Given the description of an element on the screen output the (x, y) to click on. 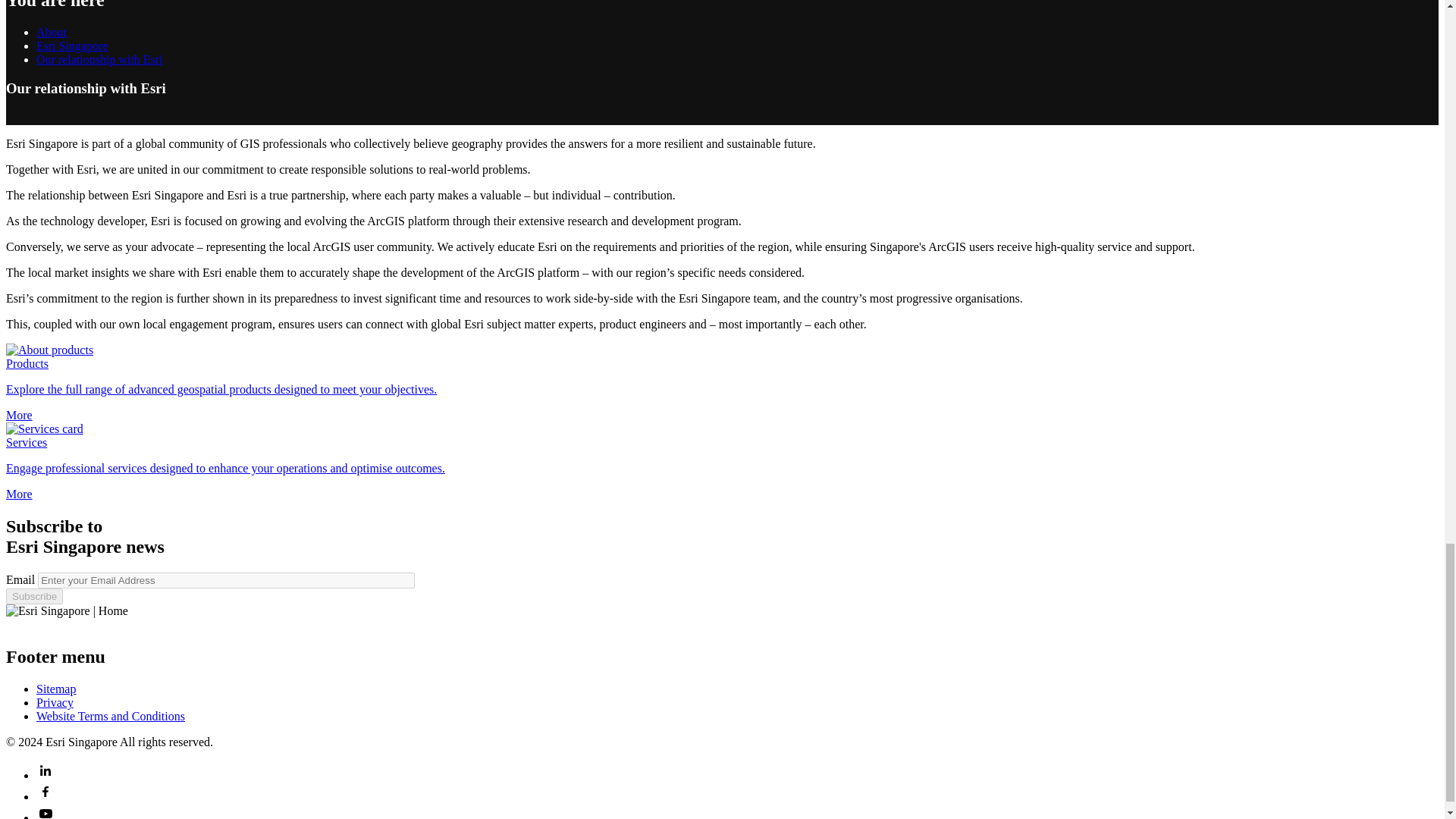
Subscribe (33, 596)
